Given the description of an element on the screen output the (x, y) to click on. 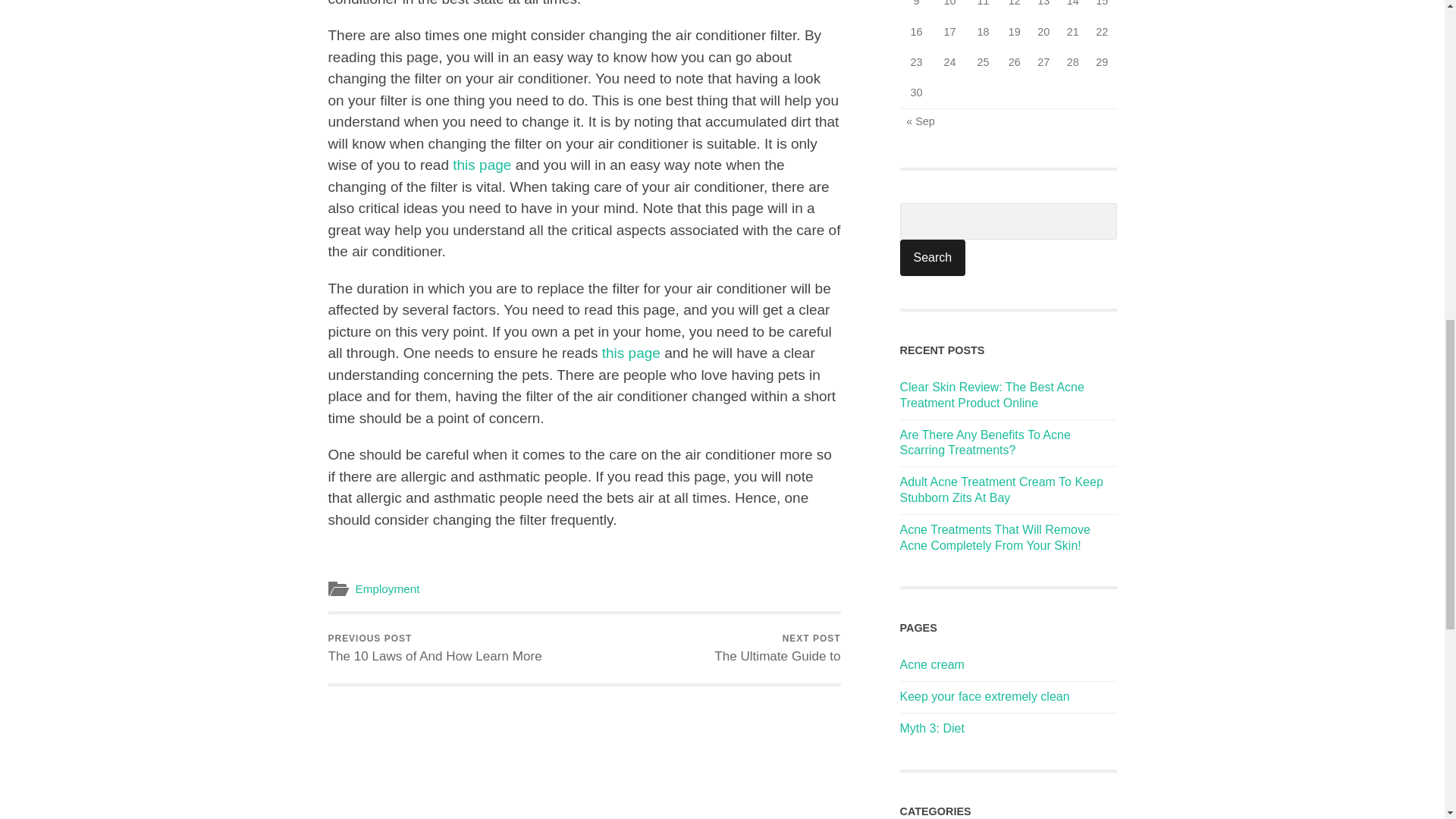
Search (932, 257)
Keep your face extremely clean (983, 696)
this page (434, 648)
Myth 3: Diet (481, 164)
Search (777, 648)
Acne cream (931, 727)
Clear Skin Review: The Best Acne Treatment Product Online (932, 257)
